Given the description of an element on the screen output the (x, y) to click on. 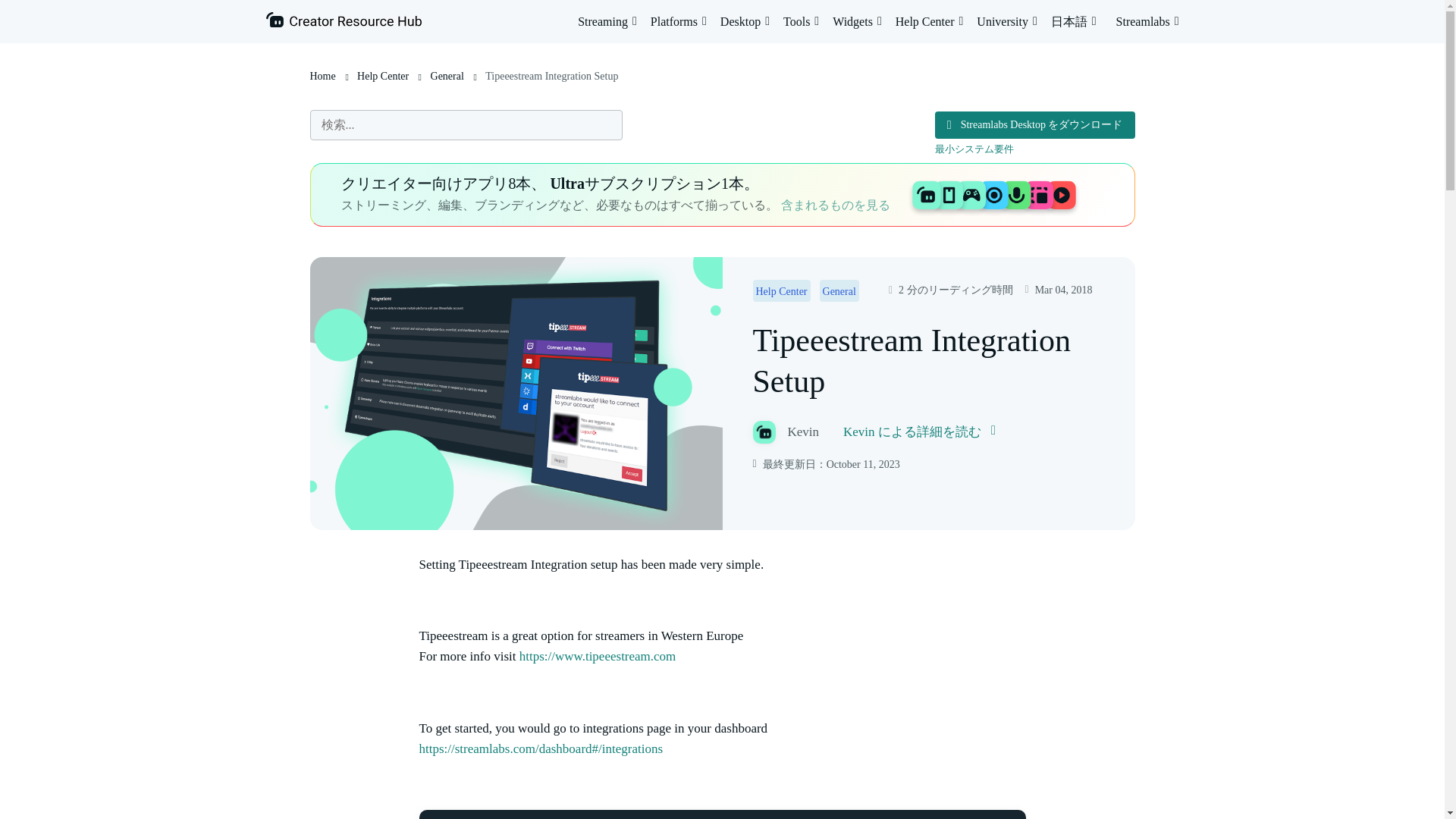
Platforms (678, 21)
Tools (800, 21)
Streaming (607, 21)
Streamlabs Desktop System Requirements (975, 149)
Go to Streamlabs (1147, 21)
Desktop (745, 21)
